Given the description of an element on the screen output the (x, y) to click on. 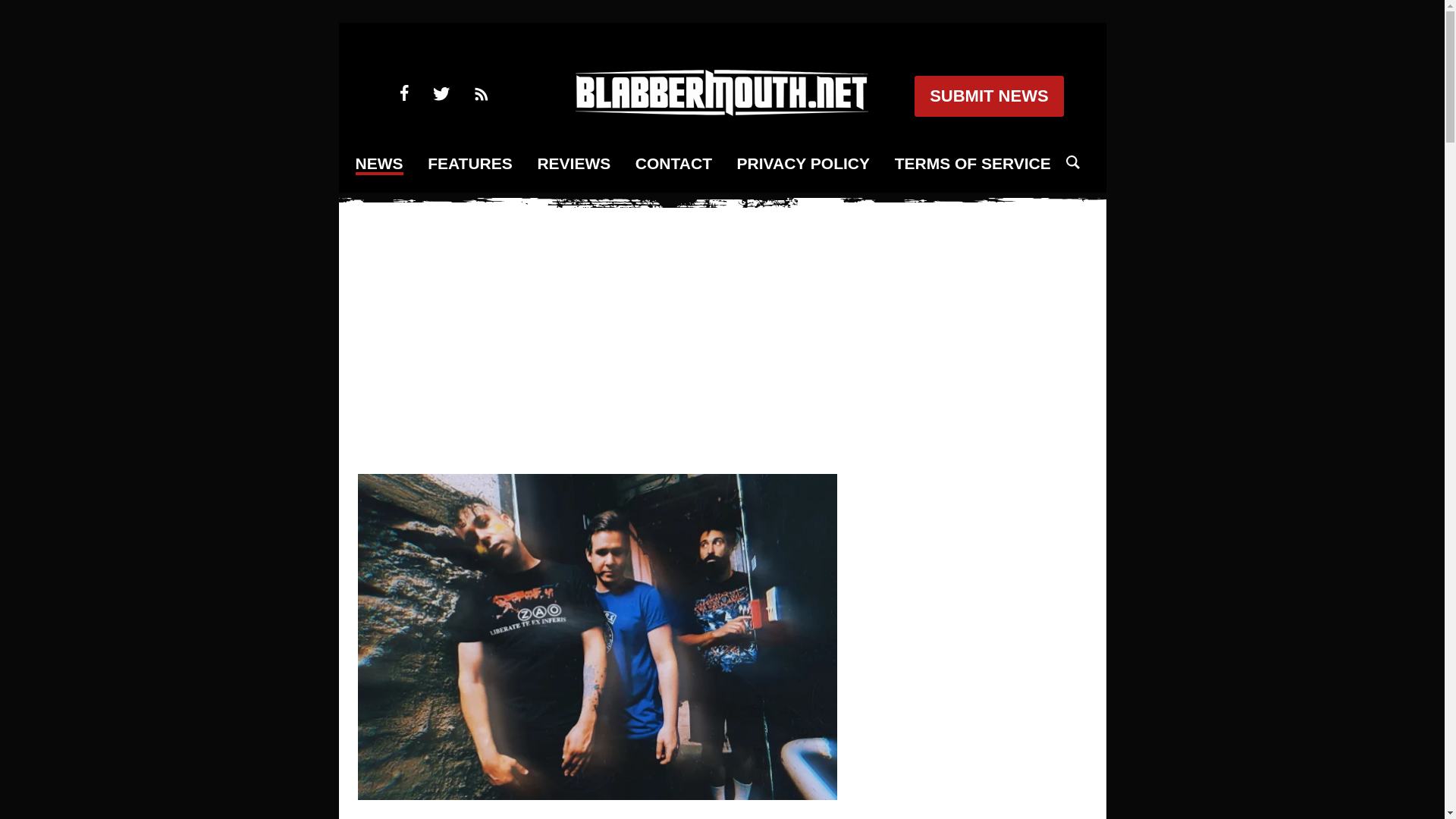
CONTACT (672, 163)
REVIEWS (573, 163)
PRIVACY POLICY (802, 163)
FEATURES (470, 163)
SUBMIT NEWS (988, 96)
NEWS (379, 164)
TERMS OF SERVICE (973, 163)
search icon (1072, 161)
blabbermouth (721, 110)
